Given the description of an element on the screen output the (x, y) to click on. 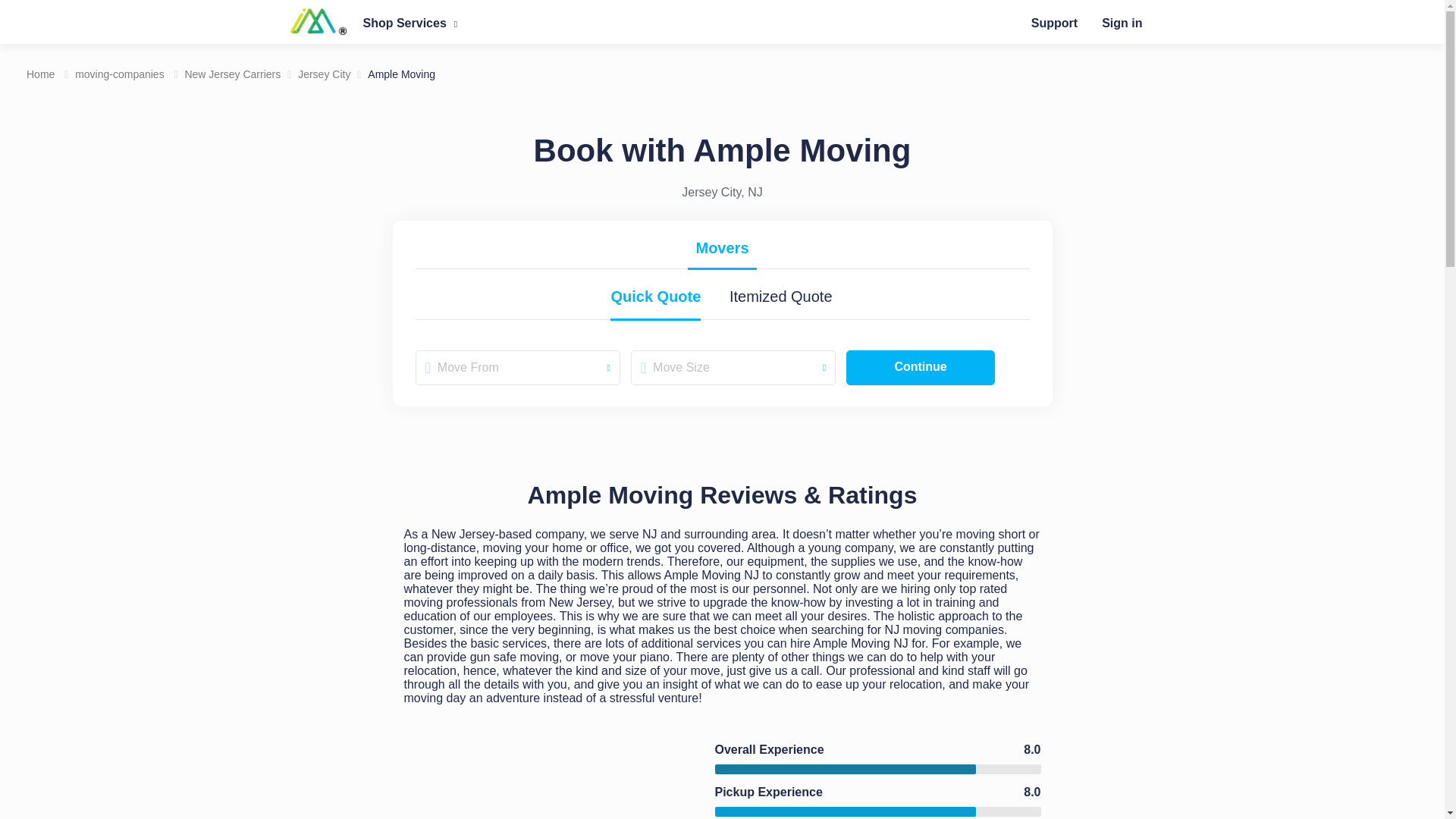
Sign in (1121, 23)
Quick Quote (654, 298)
Continue (919, 367)
Move From (517, 367)
Shop Services (409, 23)
Jersey City (324, 73)
moving-companies (119, 73)
Support (1054, 23)
Itemized Quote (780, 298)
Move Size (732, 367)
